Given the description of an element on the screen output the (x, y) to click on. 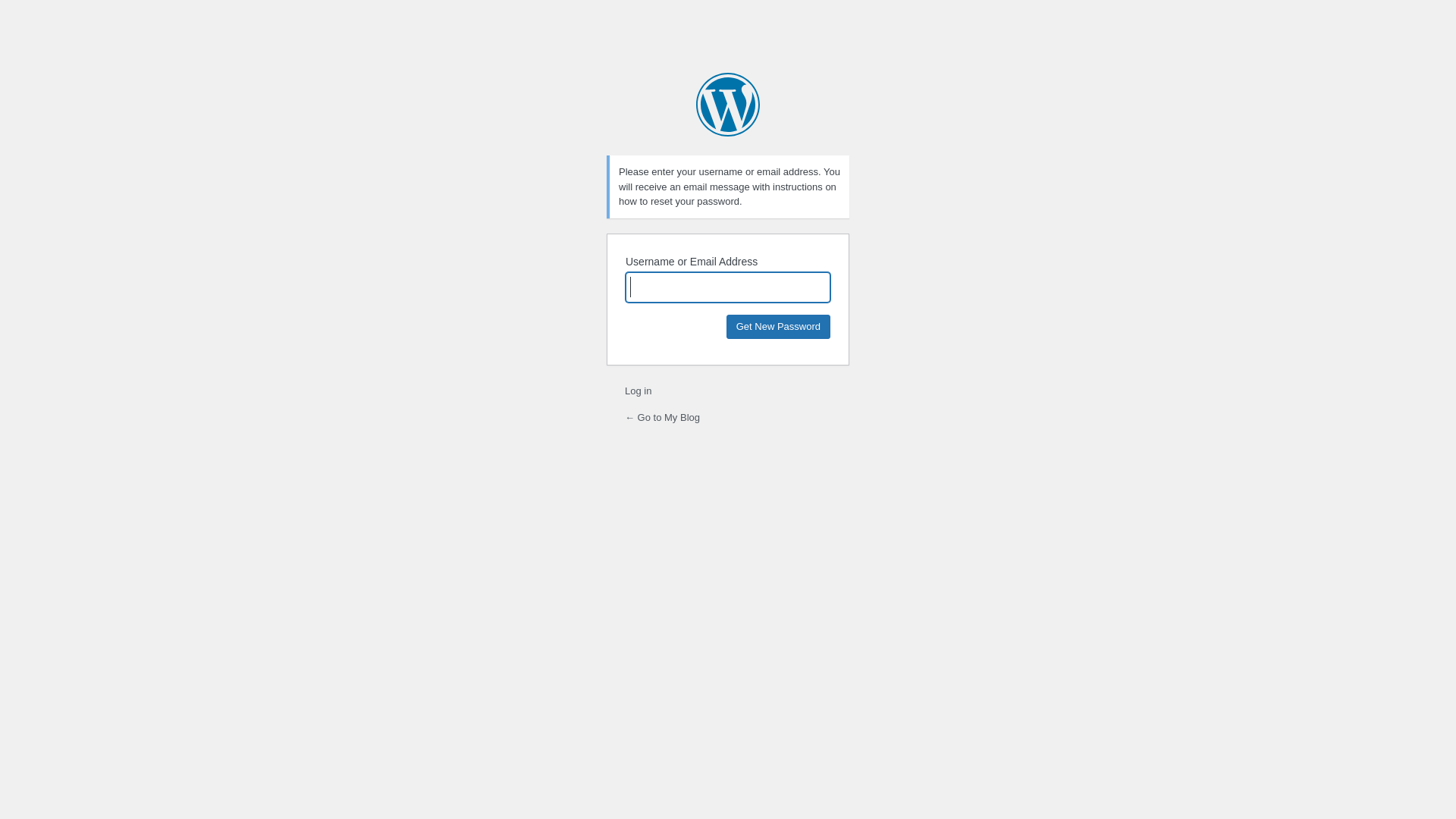
Get New Password Element type: text (778, 325)
Log in Element type: text (637, 390)
Powered by WordPress Element type: text (727, 104)
